Given the description of an element on the screen output the (x, y) to click on. 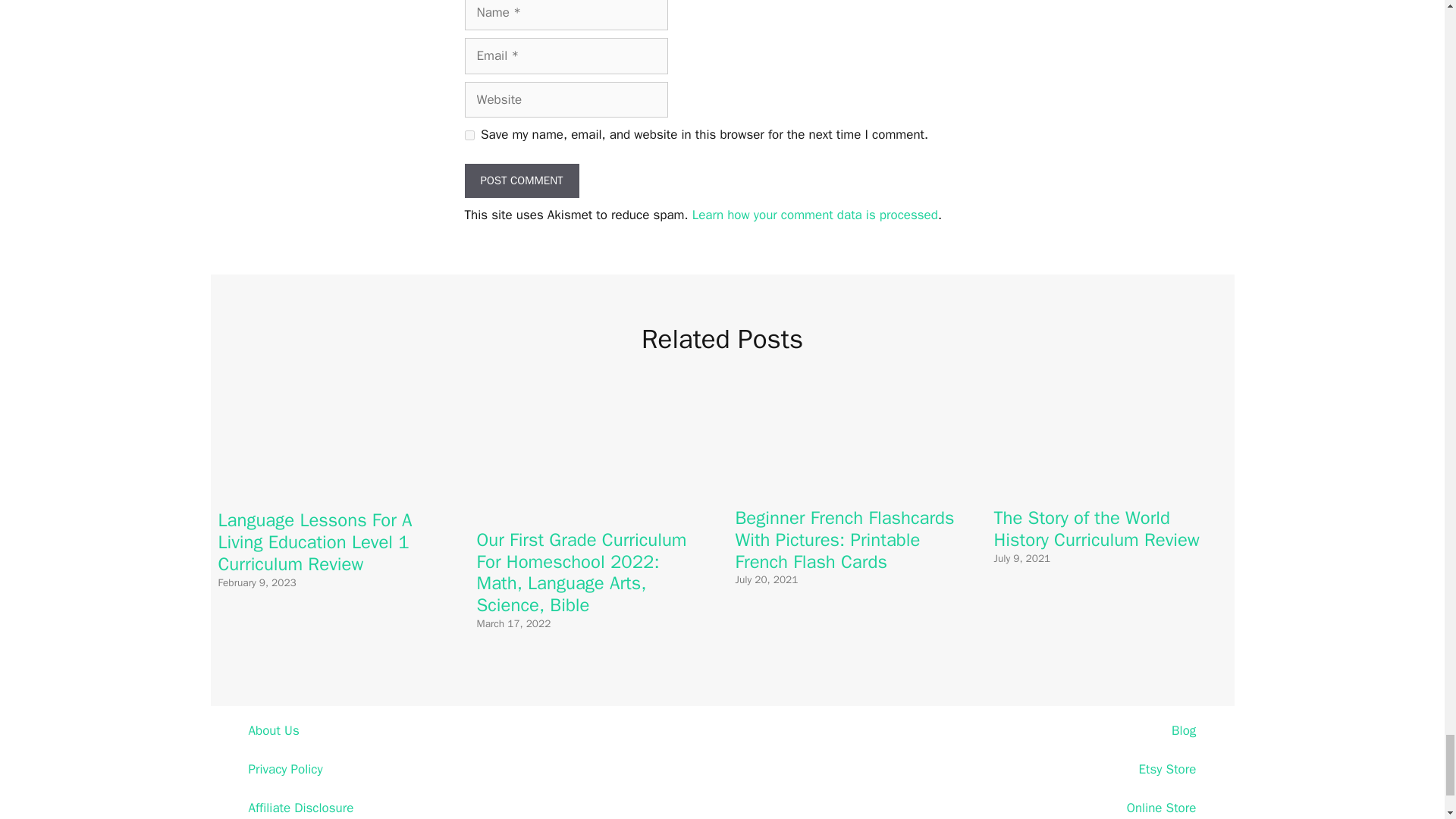
yes (469, 135)
7:33 am (257, 582)
Post Comment (521, 180)
12:09 am (513, 623)
